Given the description of an element on the screen output the (x, y) to click on. 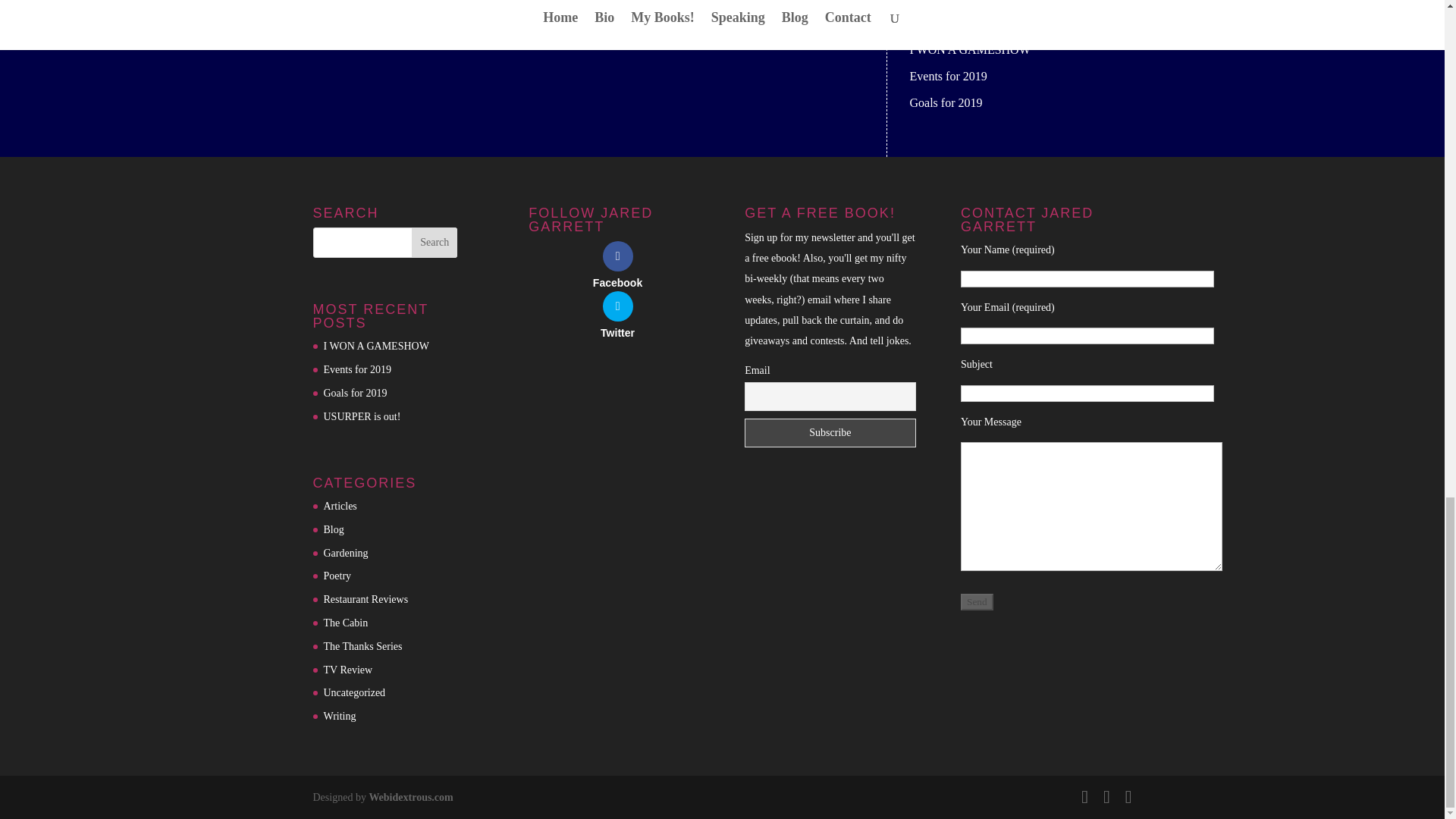
Uncategorized (354, 692)
Search (434, 242)
Events for 2019 (948, 75)
Facebook (617, 264)
The Cabin (345, 622)
Blog (333, 529)
Send (976, 601)
Restaurant Reviews (365, 599)
I WON A GAMESHOW (375, 346)
Gardening (345, 552)
Goals for 2019 (355, 392)
USURPER is out! (361, 416)
Events for 2019 (356, 369)
The Thanks Series (362, 645)
I WON A GAMESHOW (970, 49)
